Given the description of an element on the screen output the (x, y) to click on. 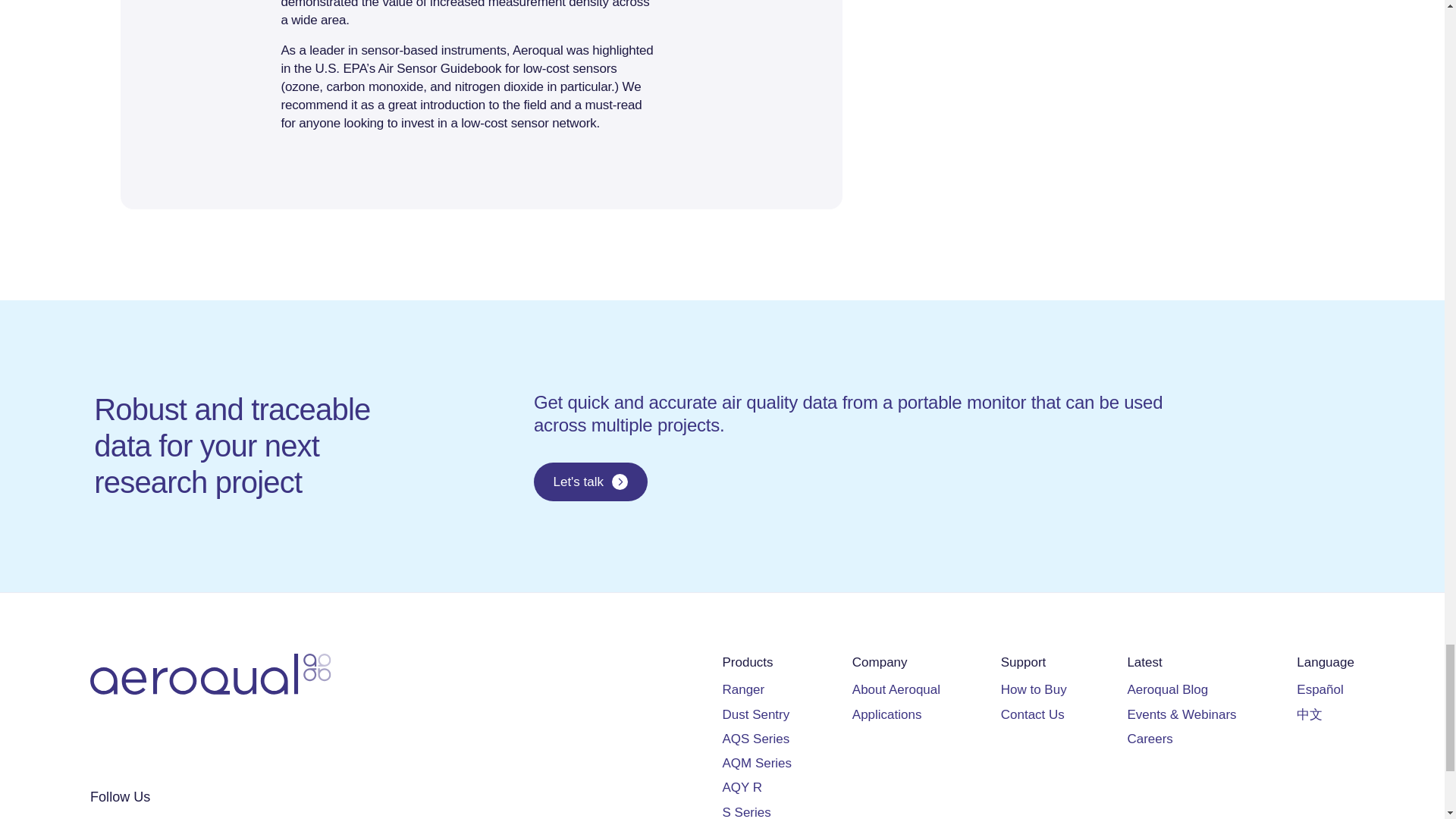
Ranger (743, 689)
S Series (746, 812)
AQY R (741, 787)
AQS Series (755, 739)
Let's talk (590, 481)
AQM Series (757, 762)
Dust Sentry (755, 714)
